Given the description of an element on the screen output the (x, y) to click on. 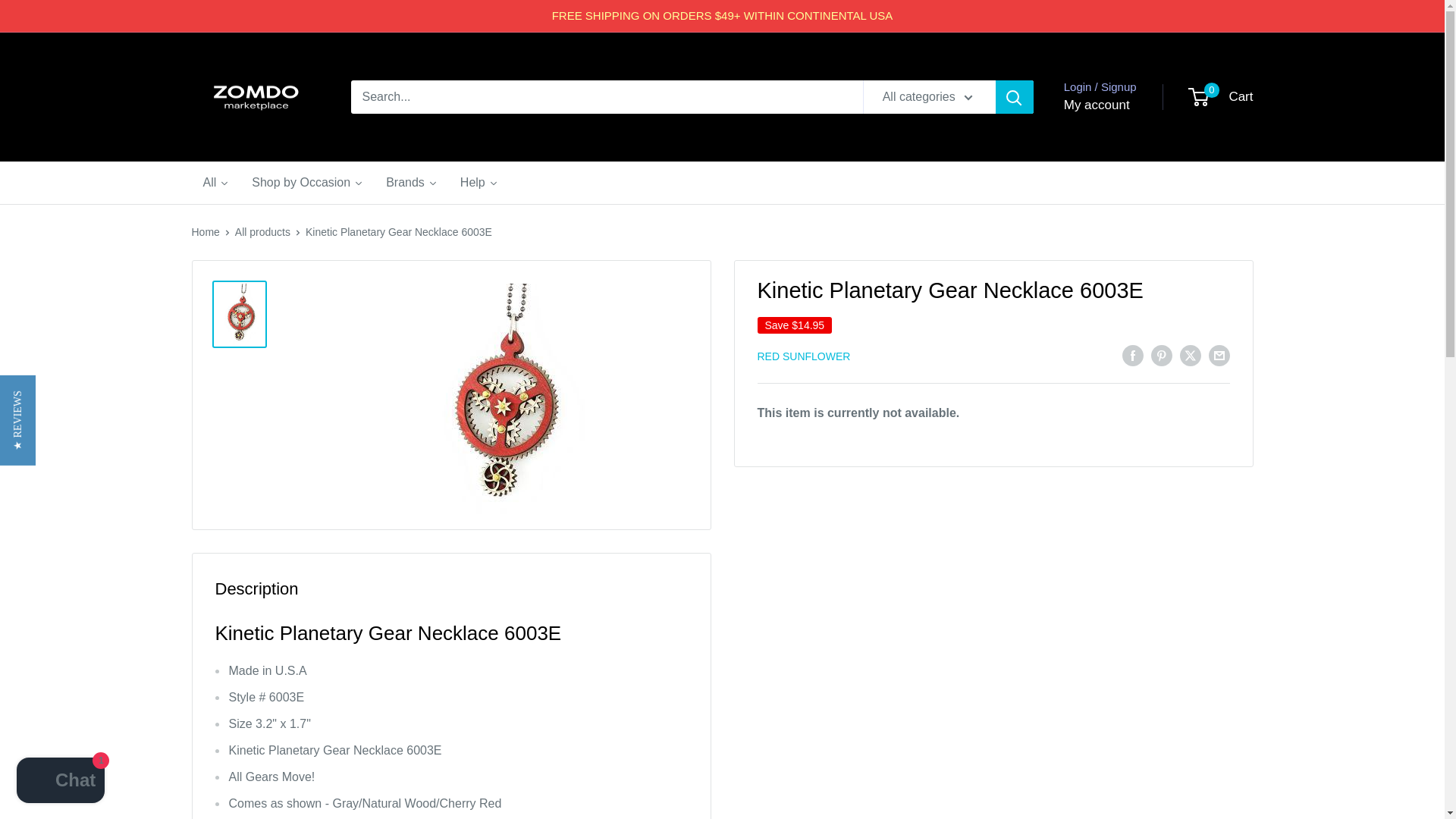
Shop by Occasion (307, 182)
Brands (411, 182)
Home (204, 232)
Brands (411, 182)
Shopify online store chat (1221, 96)
My account (60, 781)
Help (1096, 105)
All (478, 182)
Help (215, 182)
All products (478, 182)
Shop by Occasion (261, 232)
All (307, 182)
